Given the description of an element on the screen output the (x, y) to click on. 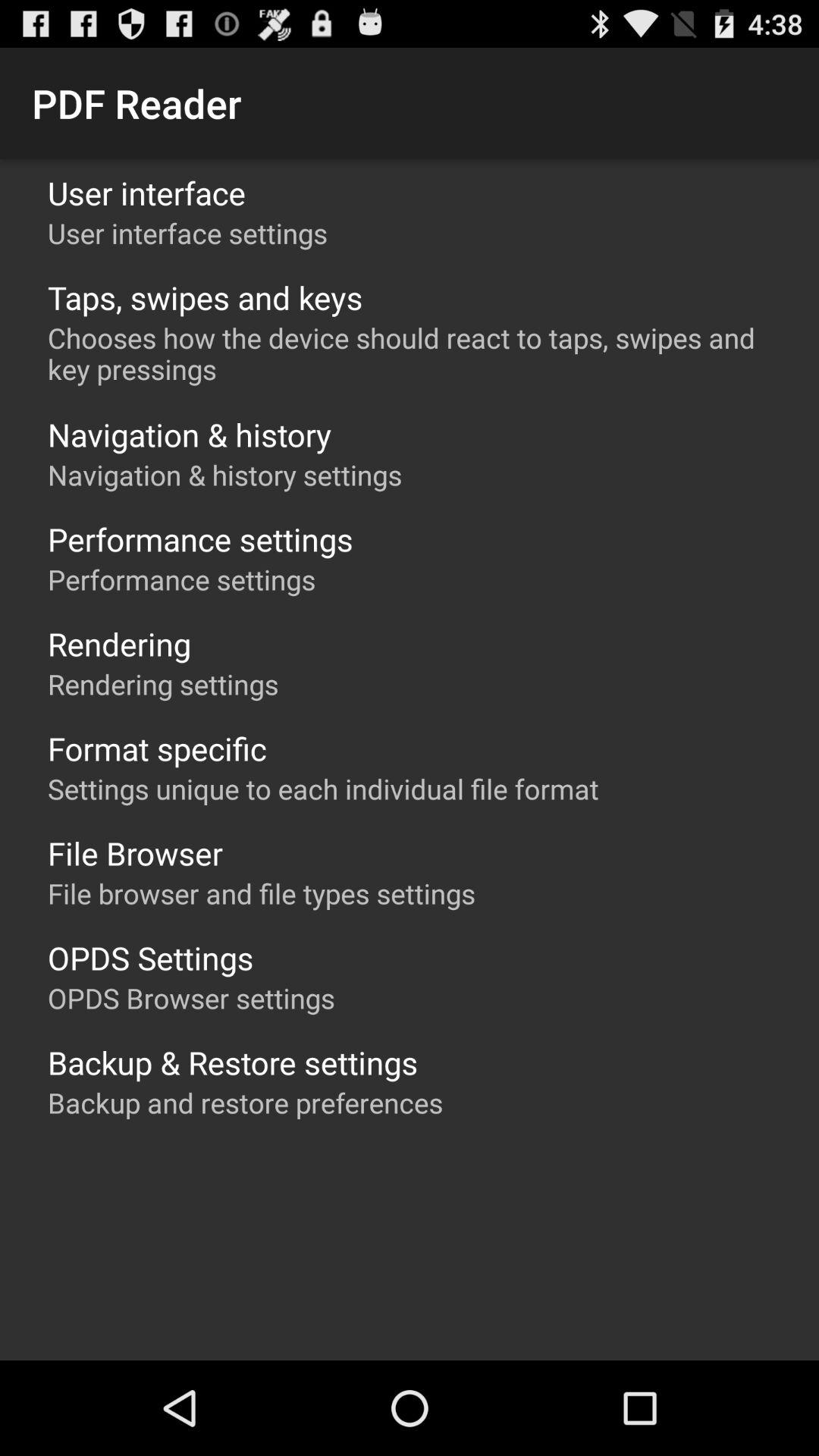
scroll to format specific item (156, 748)
